Given the description of an element on the screen output the (x, y) to click on. 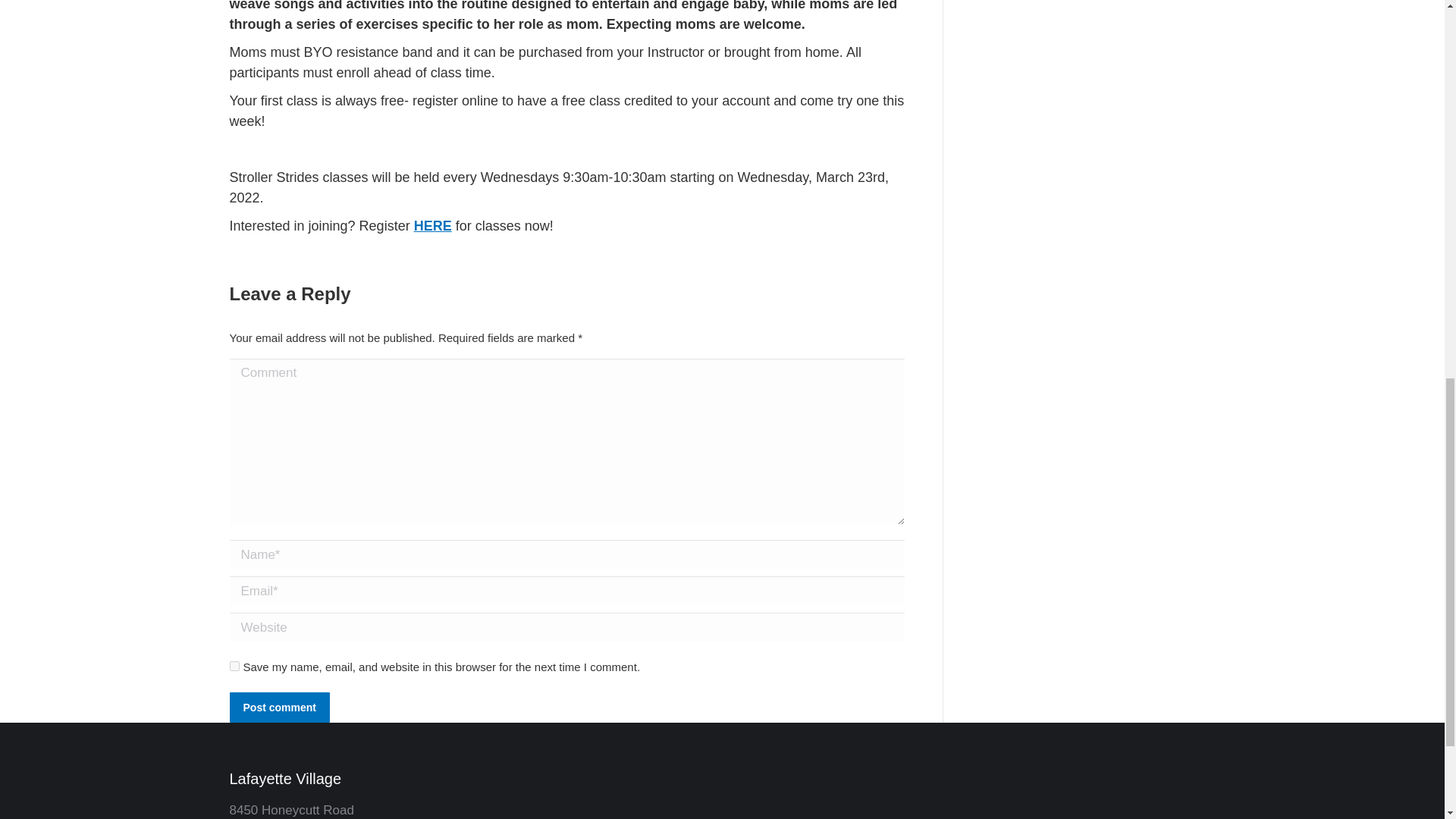
yes (233, 665)
